Given the description of an element on the screen output the (x, y) to click on. 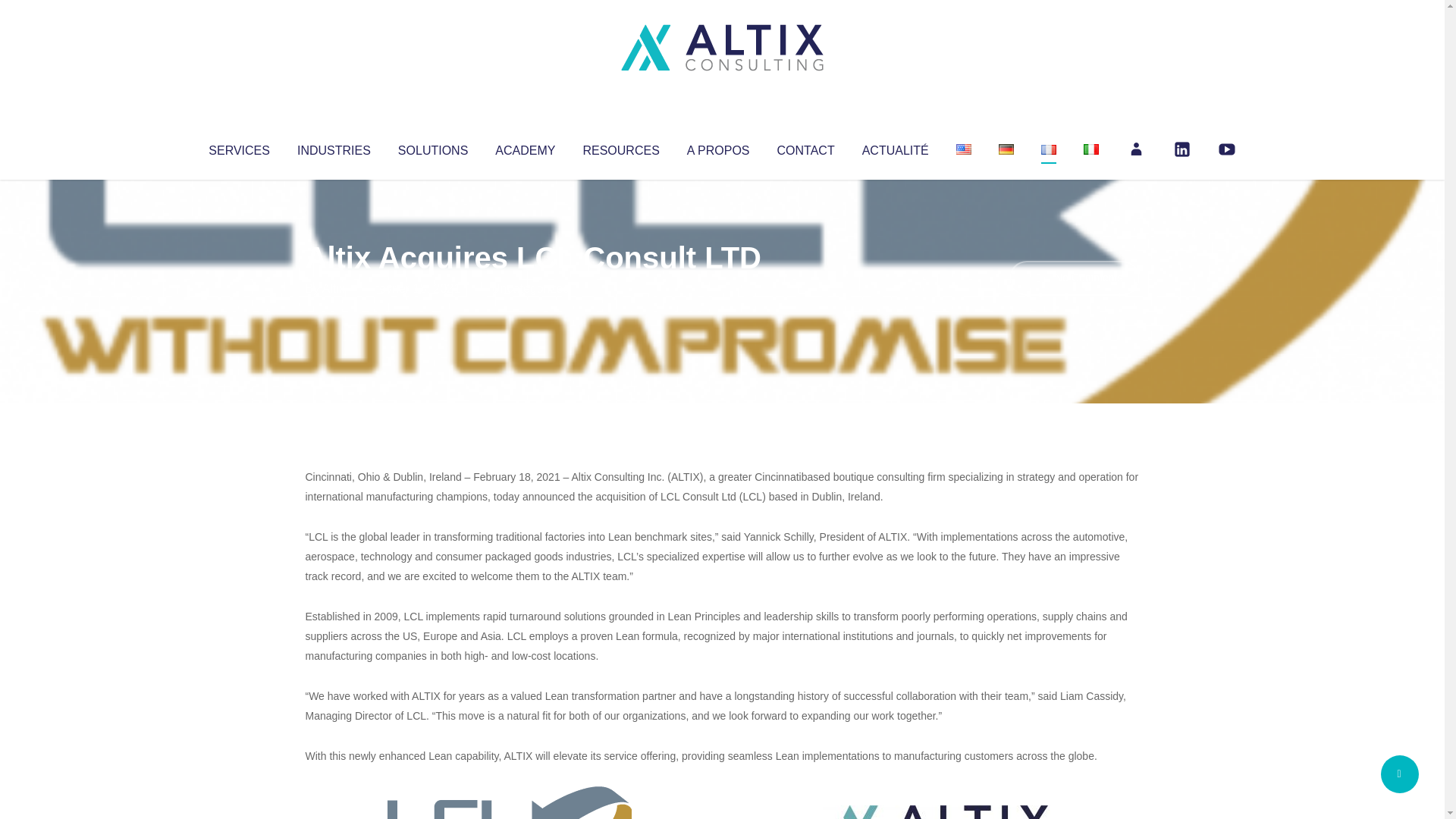
A PROPOS (718, 146)
ACADEMY (524, 146)
Articles par Altix (333, 287)
Altix (333, 287)
SOLUTIONS (432, 146)
INDUSTRIES (334, 146)
RESOURCES (620, 146)
SERVICES (238, 146)
No Comments (1073, 278)
Uncategorized (530, 287)
